Given the description of an element on the screen output the (x, y) to click on. 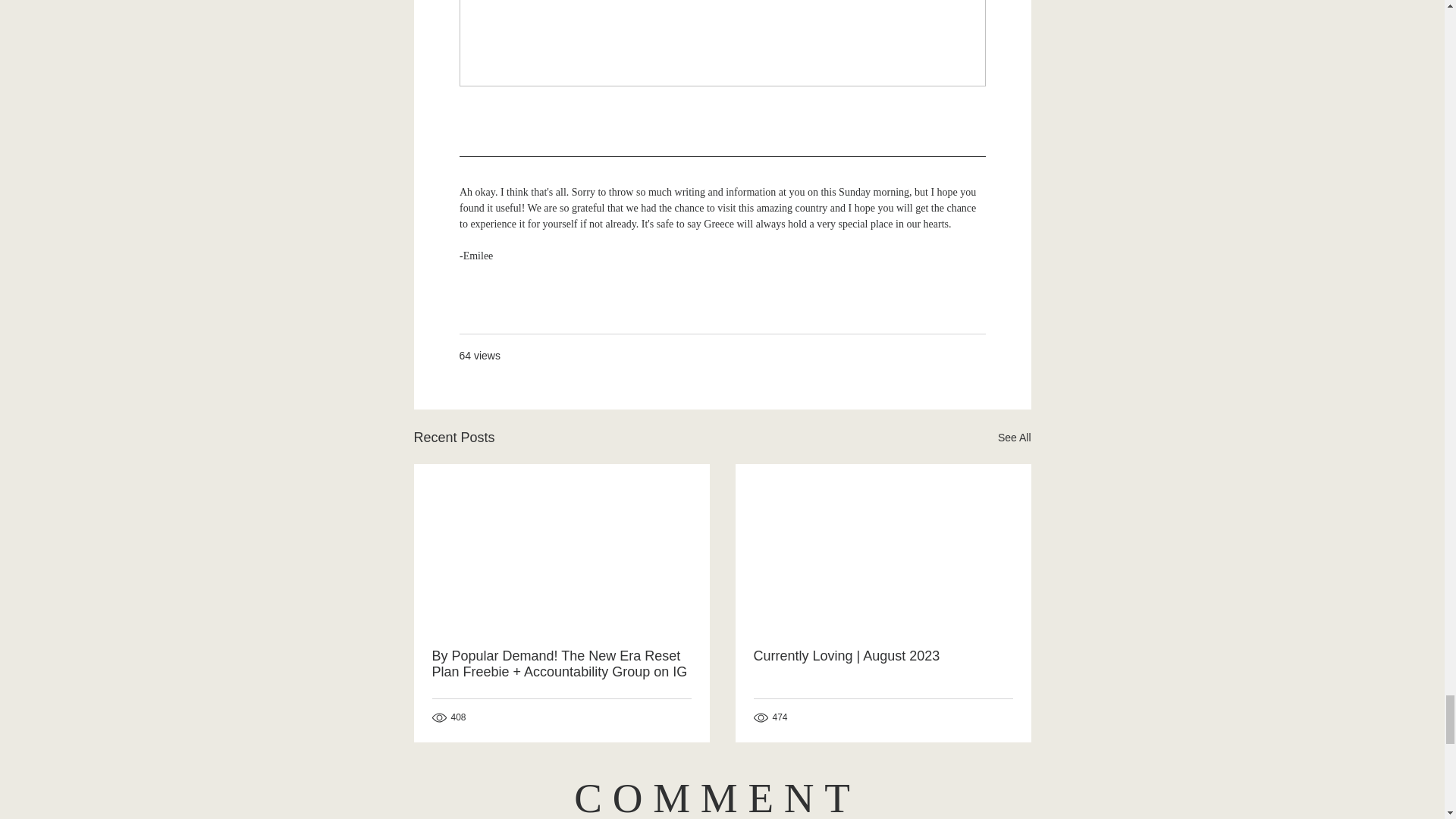
See All (1013, 437)
